Given the description of an element on the screen output the (x, y) to click on. 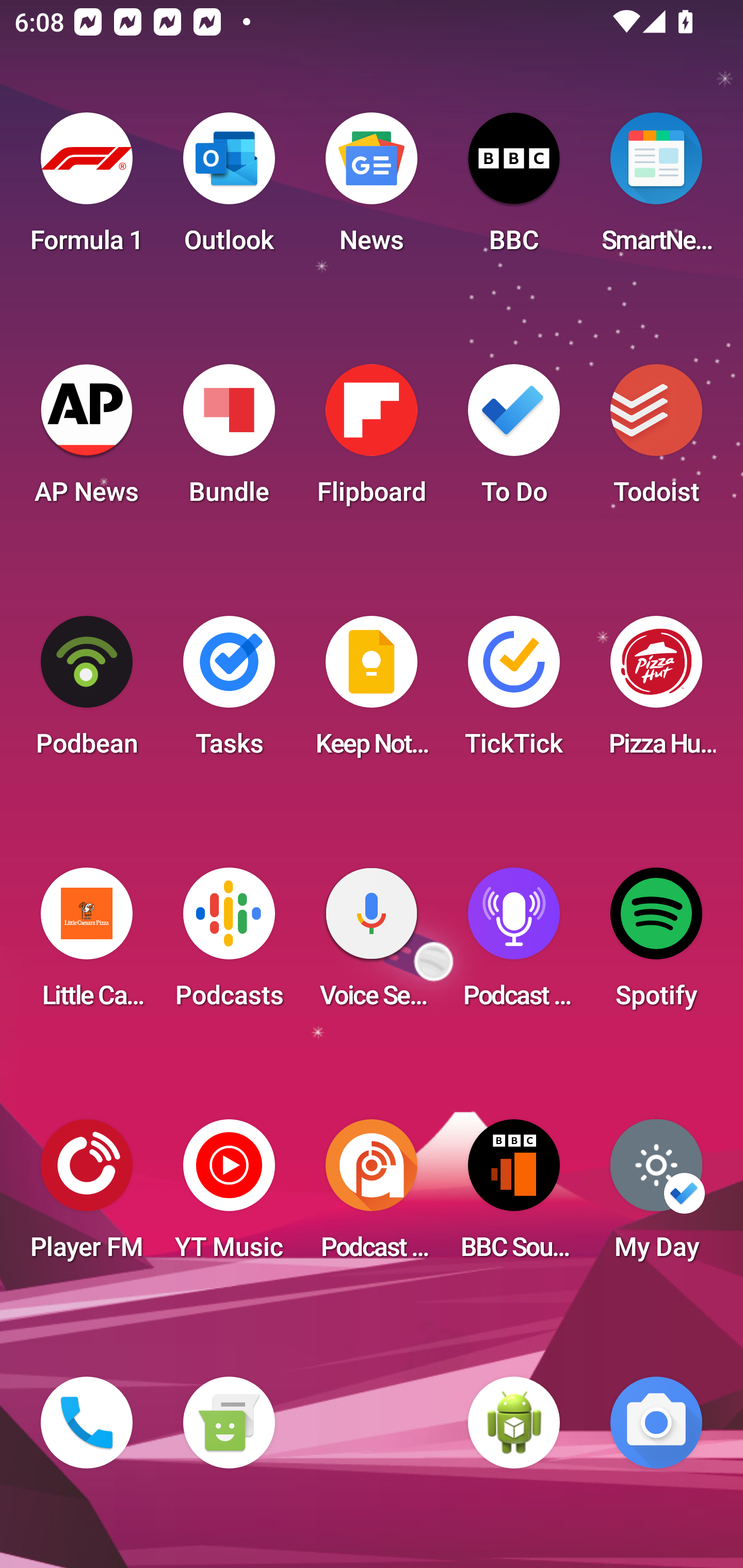
Formula 1 (86, 188)
Outlook (228, 188)
News (371, 188)
BBC (513, 188)
SmartNews (656, 188)
AP News (86, 440)
Bundle (228, 440)
Flipboard (371, 440)
To Do (513, 440)
Todoist (656, 440)
Podbean (86, 692)
Tasks (228, 692)
Keep Notes (371, 692)
TickTick (513, 692)
Pizza Hut HK & Macau (656, 692)
Little Caesars Pizza (86, 943)
Podcasts (228, 943)
Voice Search (371, 943)
Podcast Player (513, 943)
Spotify (656, 943)
Player FM (86, 1195)
YT Music (228, 1195)
Podcast Addict (371, 1195)
BBC Sounds (513, 1195)
My Day (656, 1195)
Phone (86, 1422)
Messaging (228, 1422)
WebView Browser Tester (513, 1422)
Camera (656, 1422)
